Given the description of an element on the screen output the (x, y) to click on. 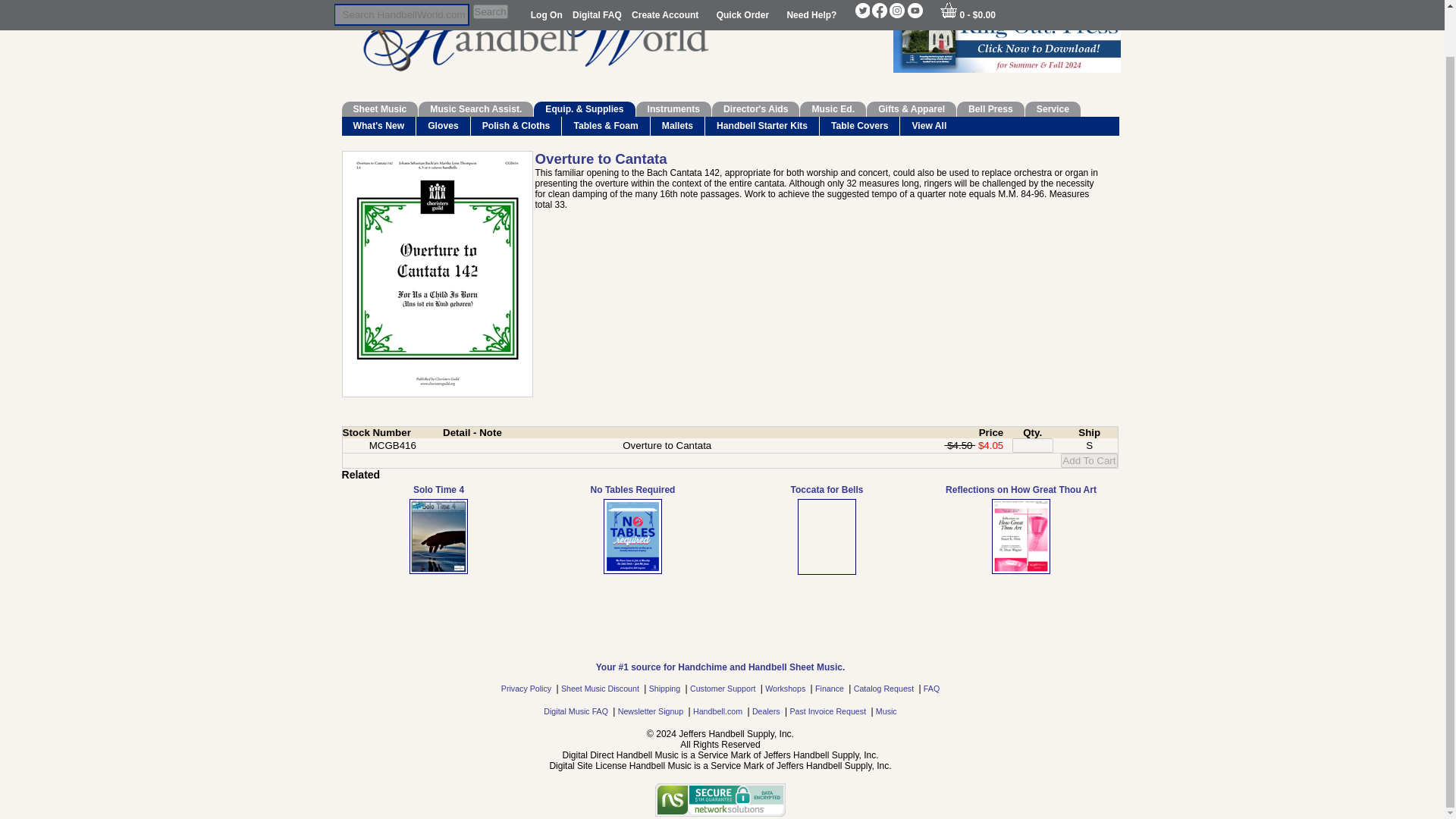
Sheet Music (378, 109)
What's New (378, 126)
Gloves (443, 126)
Music Search Assist. (475, 109)
Mallets (677, 126)
